Given the description of an element on the screen output the (x, y) to click on. 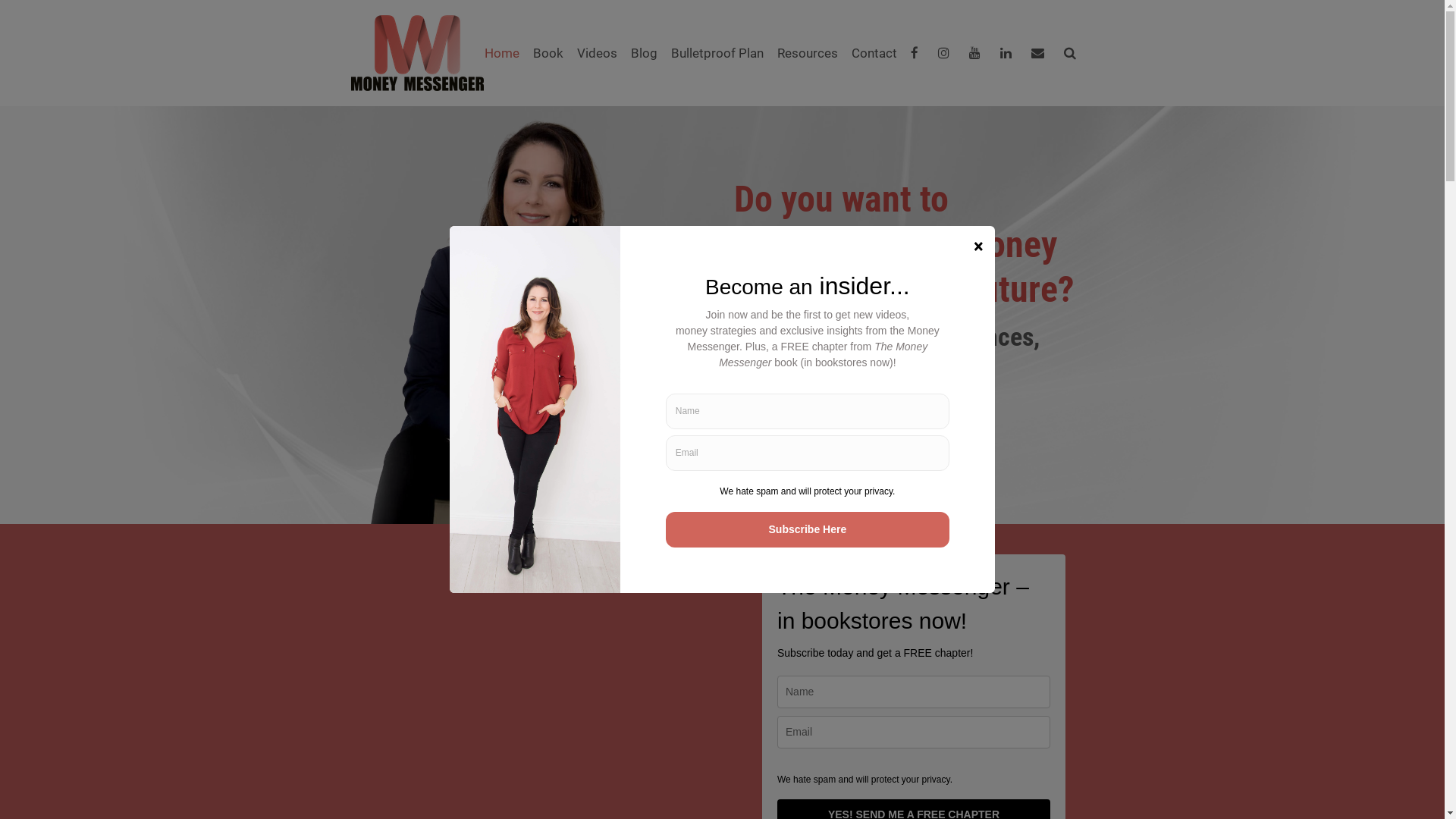
Resources Element type: text (807, 53)
Contact Element type: text (873, 53)
Videos Element type: text (597, 53)
Home Element type: text (501, 53)
Blog Element type: text (643, 53)
Start Here Element type: text (785, 451)
Bulletproof Plan Element type: text (717, 53)
Book Element type: text (548, 53)
The Money Messenger Book - in bookstores June 2021 Element type: hover (530, 696)
